Given the description of an element on the screen output the (x, y) to click on. 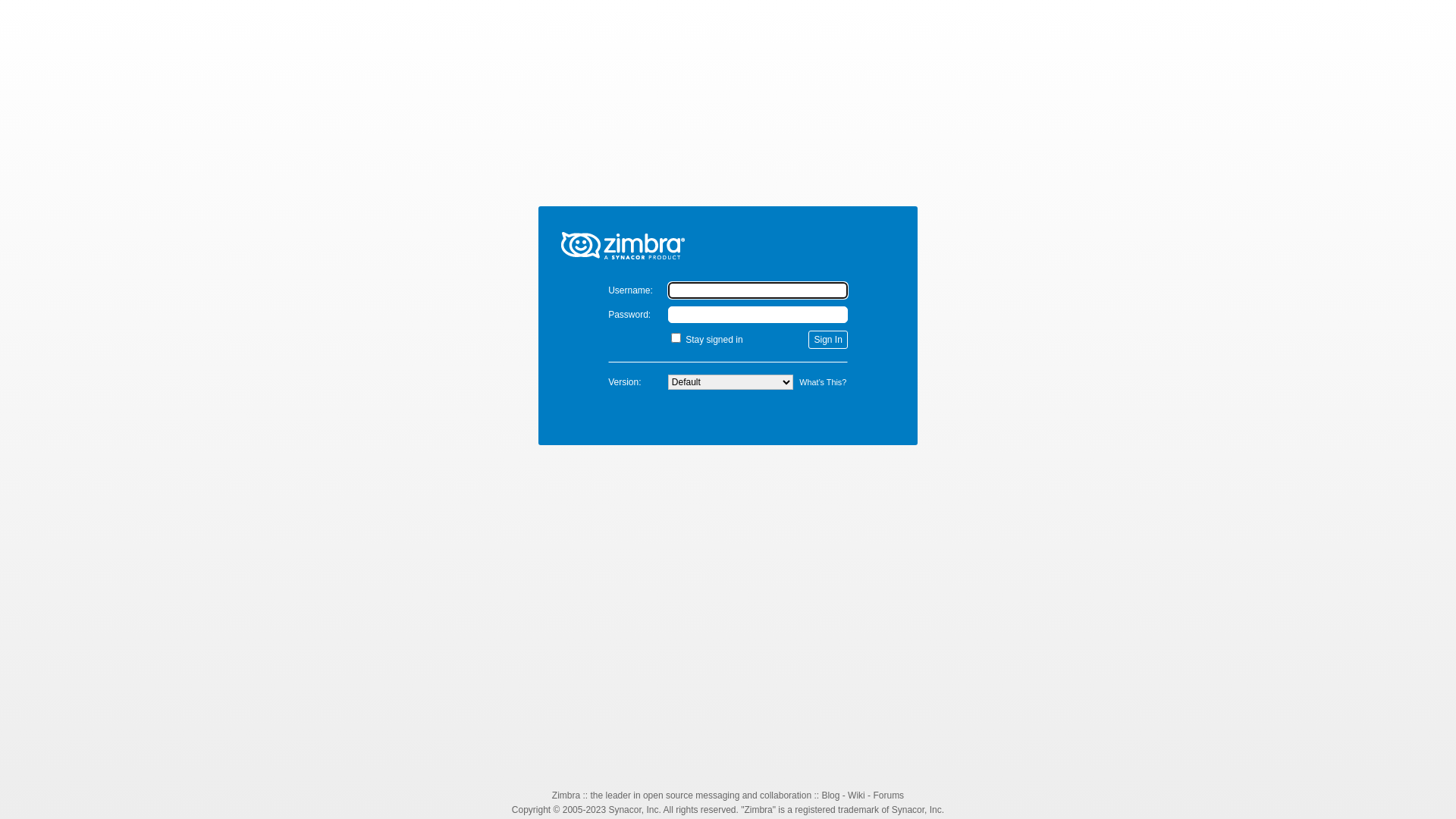
Forums Element type: text (887, 795)
Blog Element type: text (830, 795)
Zimbra Element type: text (727, 236)
Sign In Element type: text (827, 339)
Zimbra Element type: text (566, 795)
Wiki Element type: text (856, 795)
